Given the description of an element on the screen output the (x, y) to click on. 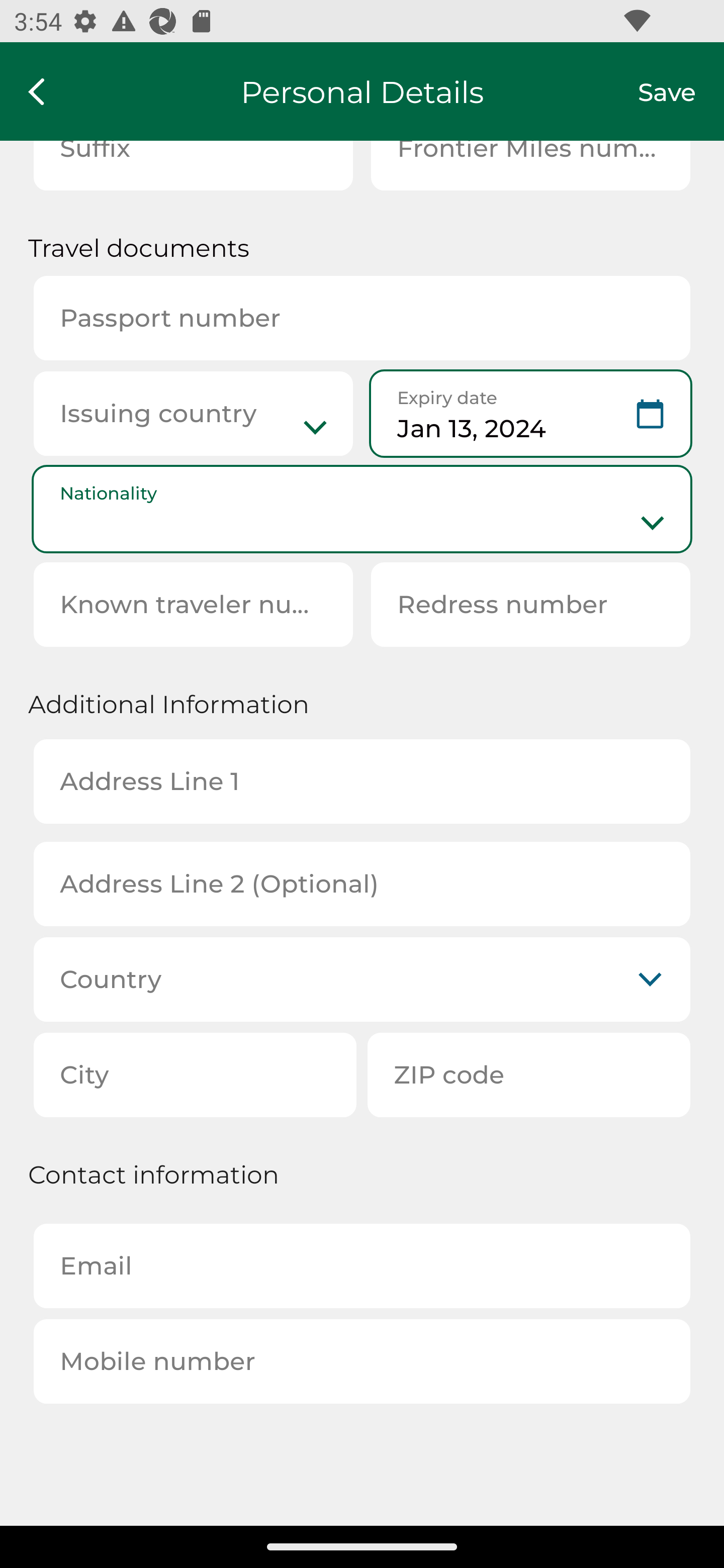
Save (680, 91)
Passport number (361, 318)
Issuing country (192, 413)
Jan 13, 2024 (530, 413)
Nationality (361, 508)
Known traveler number (192, 604)
Redress number (530, 604)
Address Line 1 (361, 781)
Address Line 2 (Optional) (361, 884)
Country (361, 978)
City (194, 1074)
ZIP code (528, 1074)
Email (361, 1265)
Mobile number (361, 1360)
